Given the description of an element on the screen output the (x, y) to click on. 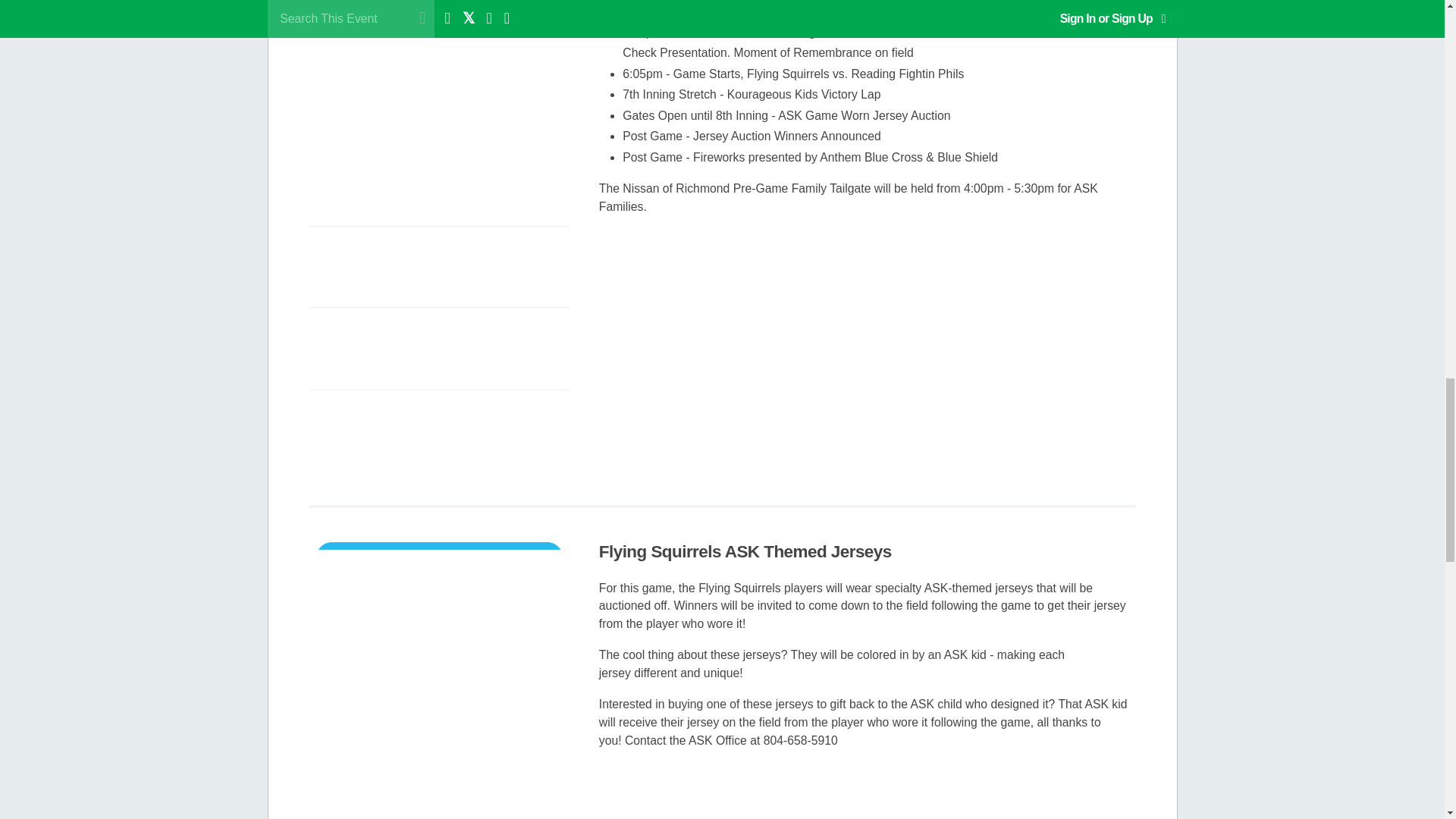
The Diamond Parking (438, 269)
The Diamond Seating Chart (438, 350)
5K Course Map (438, 432)
